Given the description of an element on the screen output the (x, y) to click on. 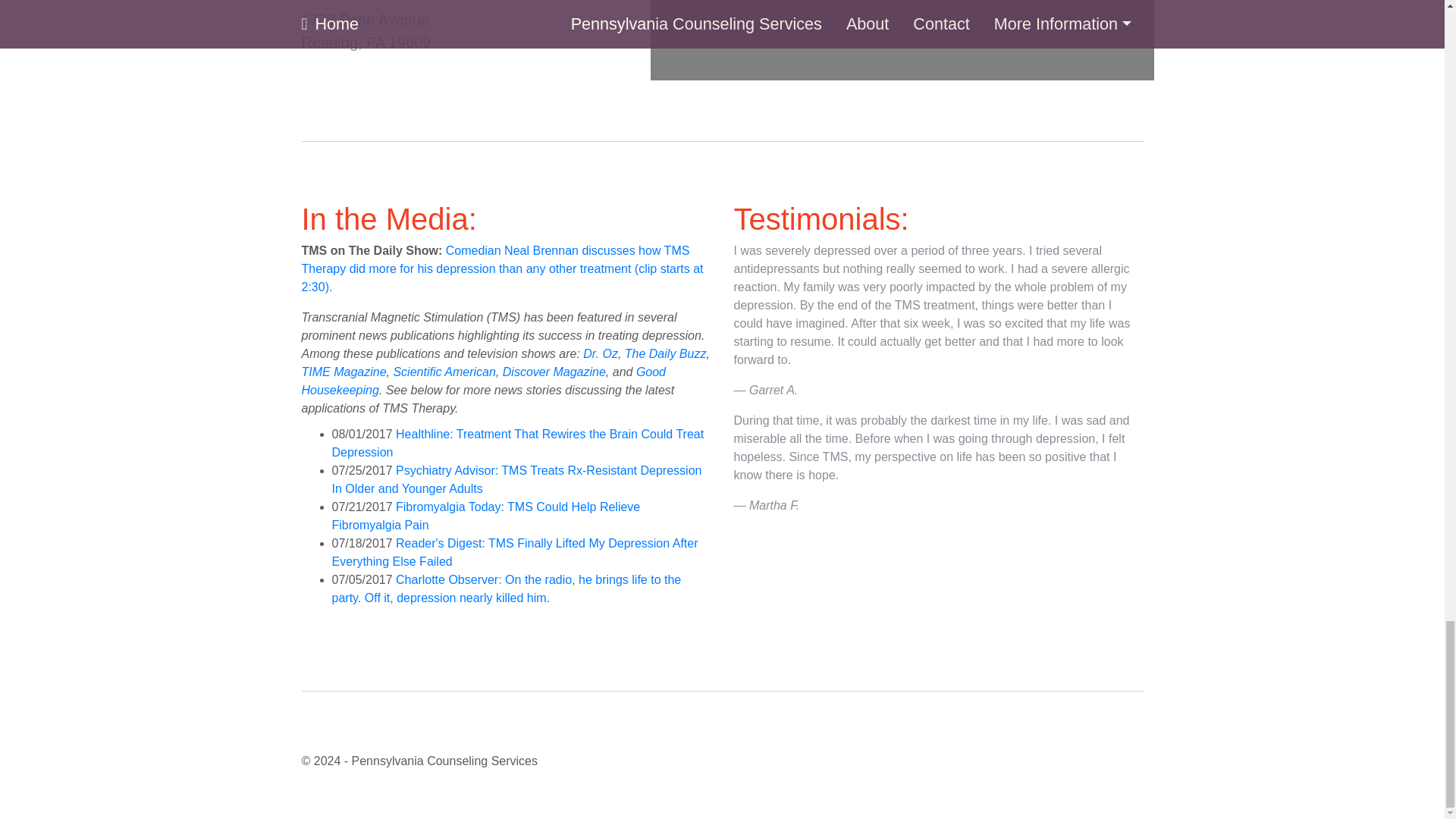
TIME Magazine (344, 371)
Good Housekeeping (483, 380)
The Daily Buzz (665, 353)
Dr. Oz (600, 353)
Fibromyalgia Today: TMS Could Help Relieve Fibromyalgia Pain (365, 30)
Scientific American (485, 515)
Discover Magazine (444, 371)
